Given the description of an element on the screen output the (x, y) to click on. 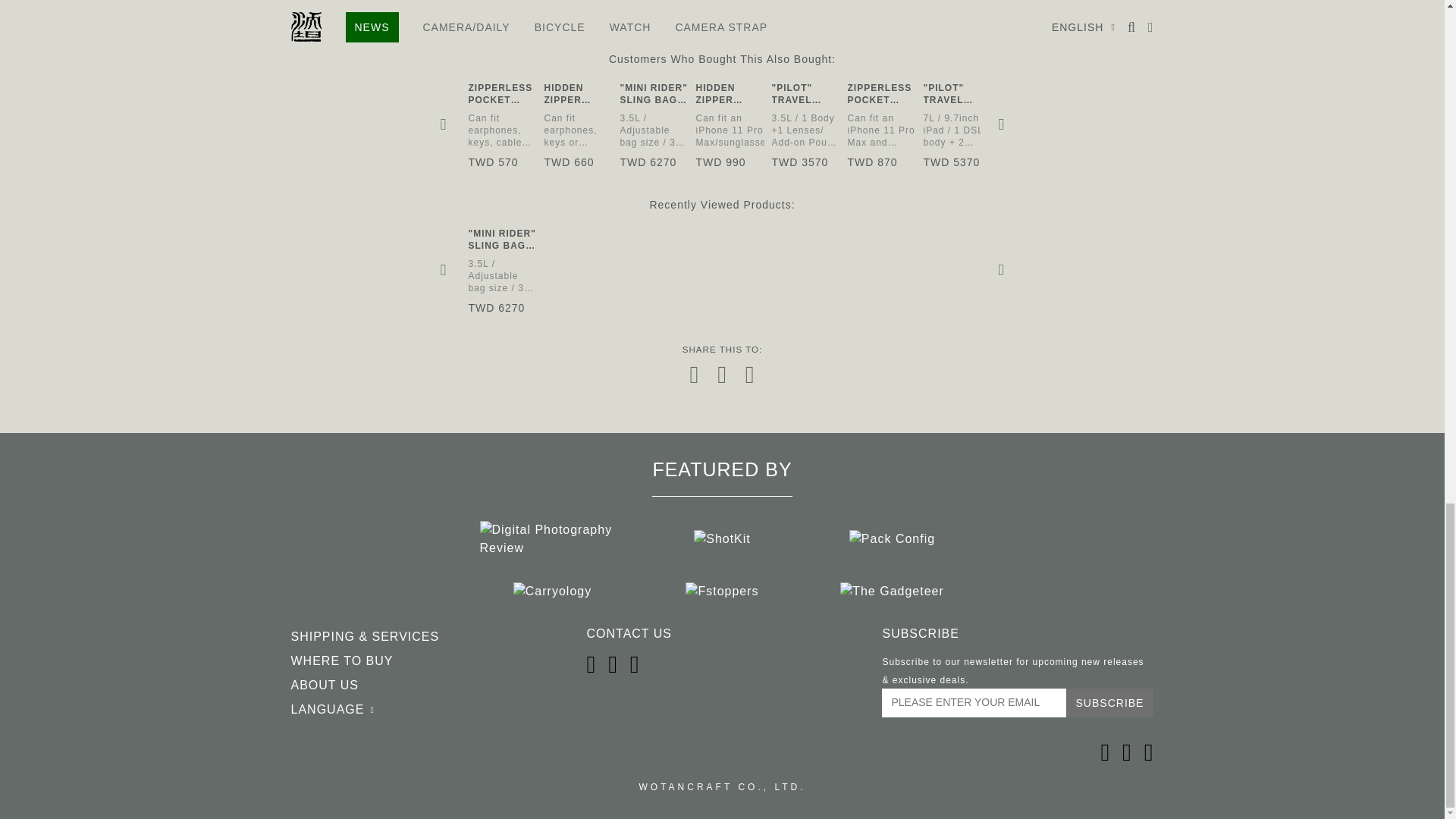
About WOTANCRAFT (325, 685)
